Given the description of an element on the screen output the (x, y) to click on. 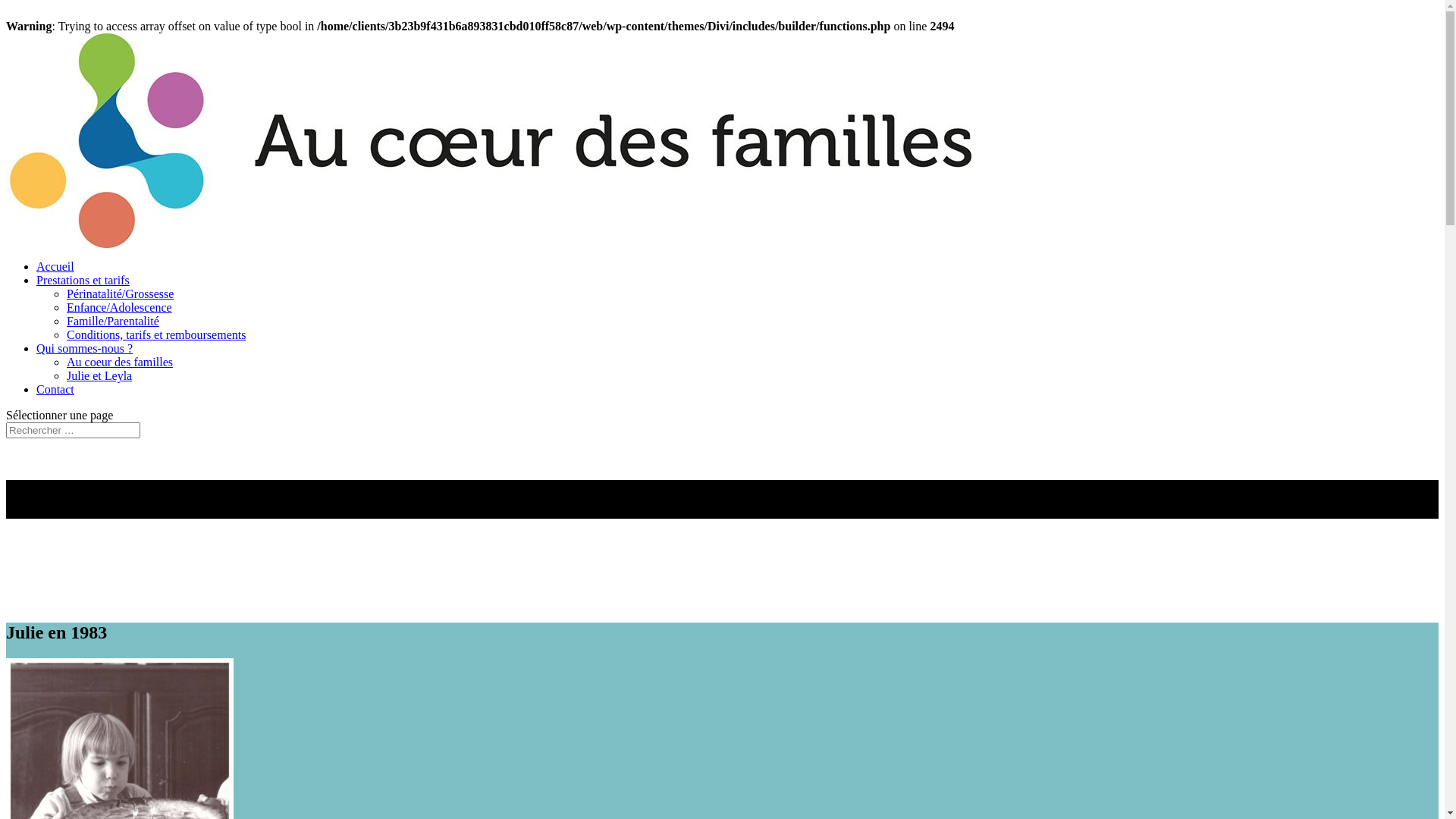
Rechercher: Element type: hover (73, 430)
Conditions, tarifs et remboursements Element type: text (155, 334)
Au coeur des familles Element type: text (119, 361)
Contact Element type: text (55, 388)
Enfance/Adolescence Element type: text (119, 307)
Julie et Leyla Element type: text (98, 375)
Qui sommes-nous ? Element type: text (84, 348)
Accueil Element type: text (55, 266)
Prestations et tarifs Element type: text (82, 279)
